Given the description of an element on the screen output the (x, y) to click on. 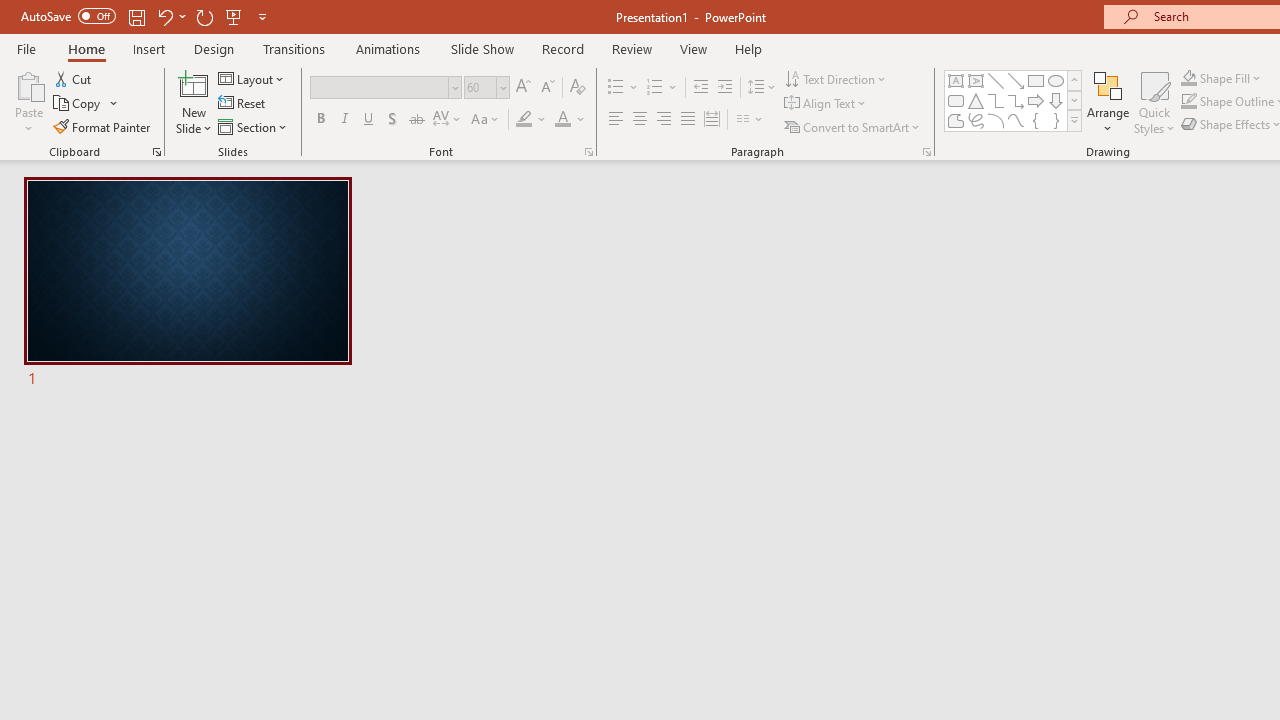
Center (639, 119)
Align Text (826, 103)
Copy (78, 103)
Insert (149, 48)
New Slide (193, 102)
From Beginning (234, 15)
Text Highlight Color Yellow (524, 119)
Convert to SmartArt (853, 126)
Row up (1074, 79)
Increase Font Size (522, 87)
Rectangle (1035, 80)
Numbering (661, 87)
Text Box (955, 80)
Character Spacing (447, 119)
Font... (588, 151)
